Given the description of an element on the screen output the (x, y) to click on. 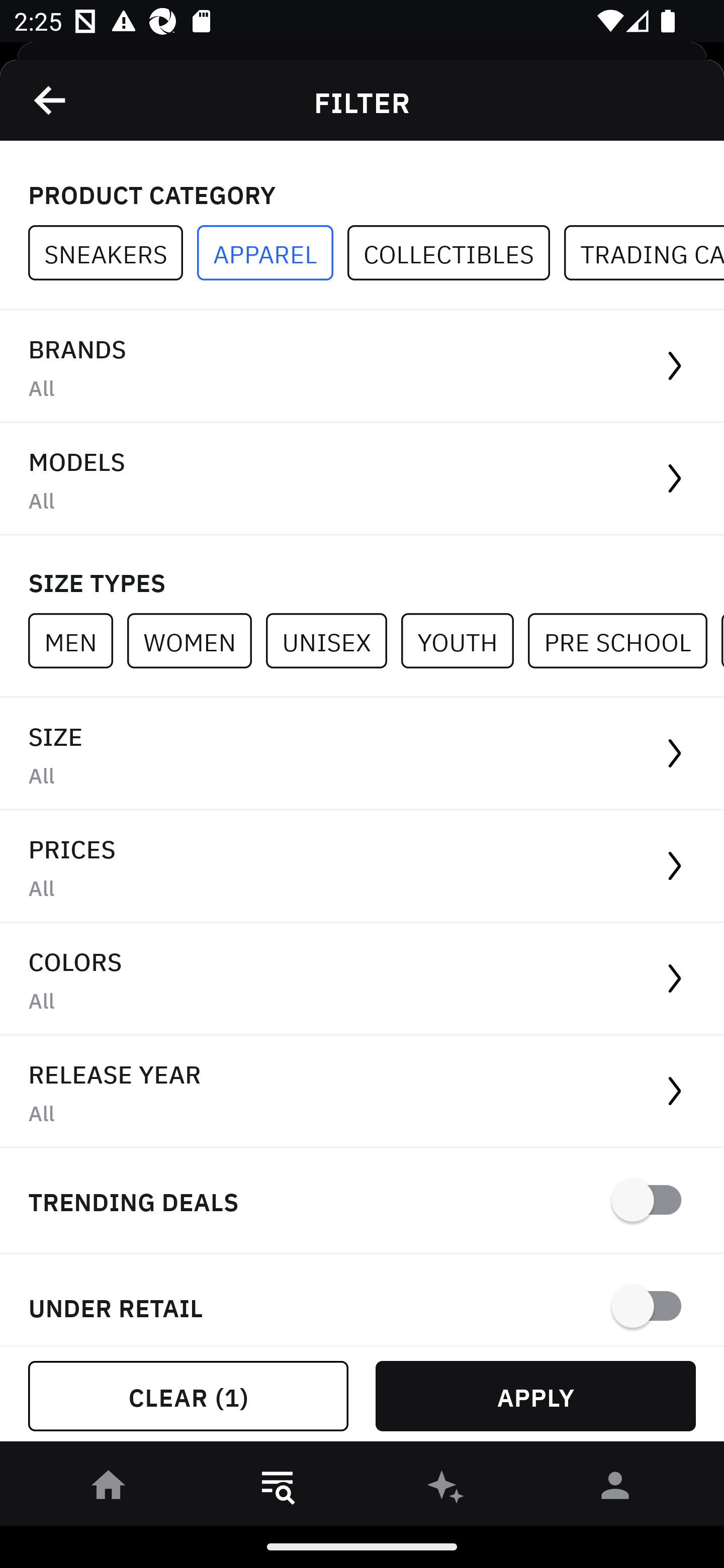
 (50, 100)
SNEAKERS (112, 252)
APPAREL (271, 252)
COLLECTIBLES (455, 252)
TRADING CARDS (643, 252)
BRANDS All (362, 366)
MODELS All (362, 479)
MEN (77, 640)
WOMEN (196, 640)
UNISEX (333, 640)
YOUTH (464, 640)
PRE SCHOOL (624, 640)
SIZE All (362, 753)
PRICES All (362, 866)
COLORS All (362, 979)
RELEASE YEAR All (362, 1091)
TRENDING DEALS (362, 1200)
UNDER RETAIL (362, 1299)
CLEAR (1) (188, 1396)
APPLY (535, 1396)
󰋜 (108, 1488)
󱎸 (277, 1488)
󰫢 (446, 1488)
󰀄 (615, 1488)
